Given the description of an element on the screen output the (x, y) to click on. 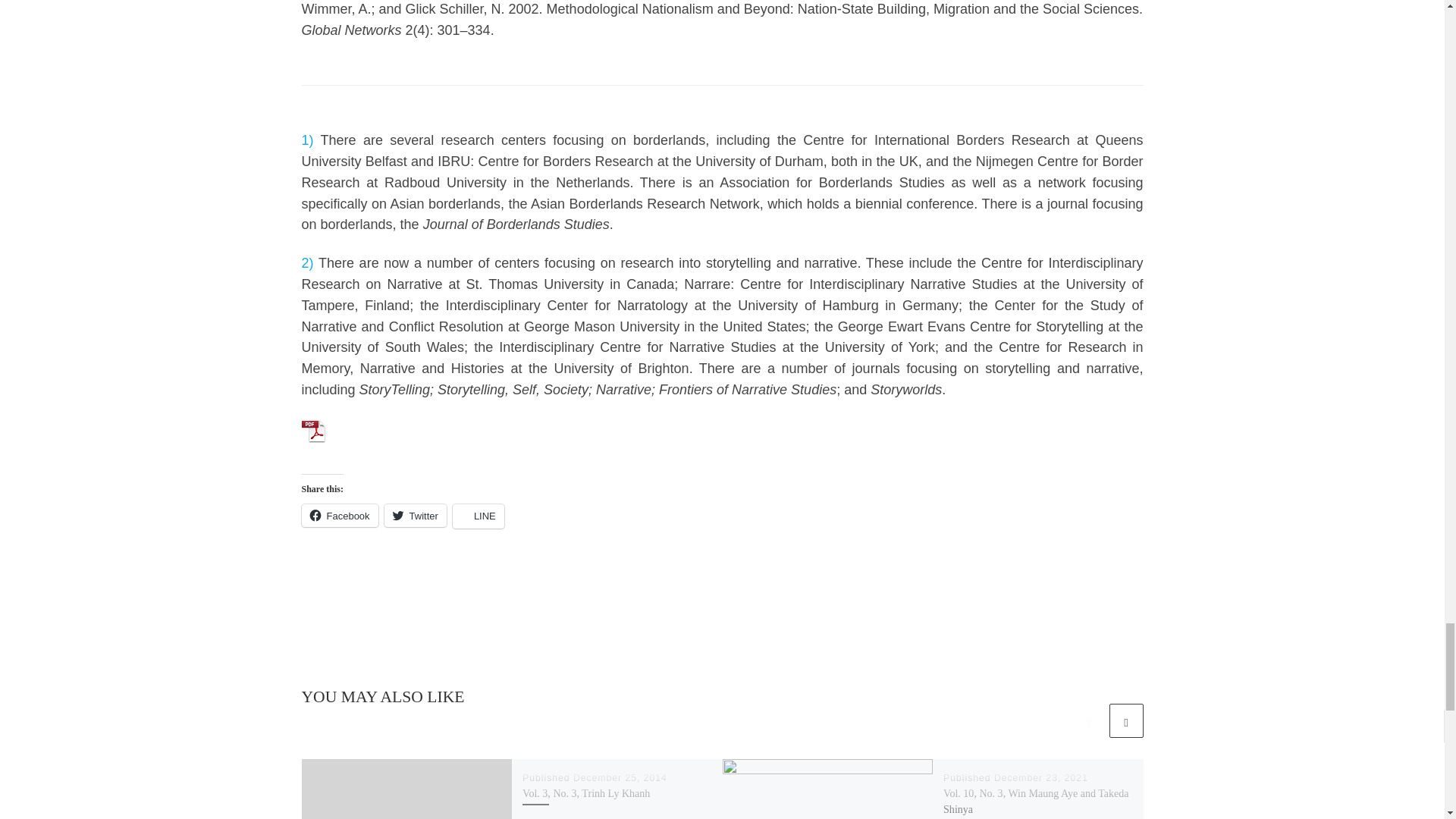
Click to share on LINE (477, 516)
Next related articles (1125, 720)
Click to share on Facebook (339, 515)
Click to share on Twitter (415, 515)
Previous related articles (1088, 720)
